Given the description of an element on the screen output the (x, y) to click on. 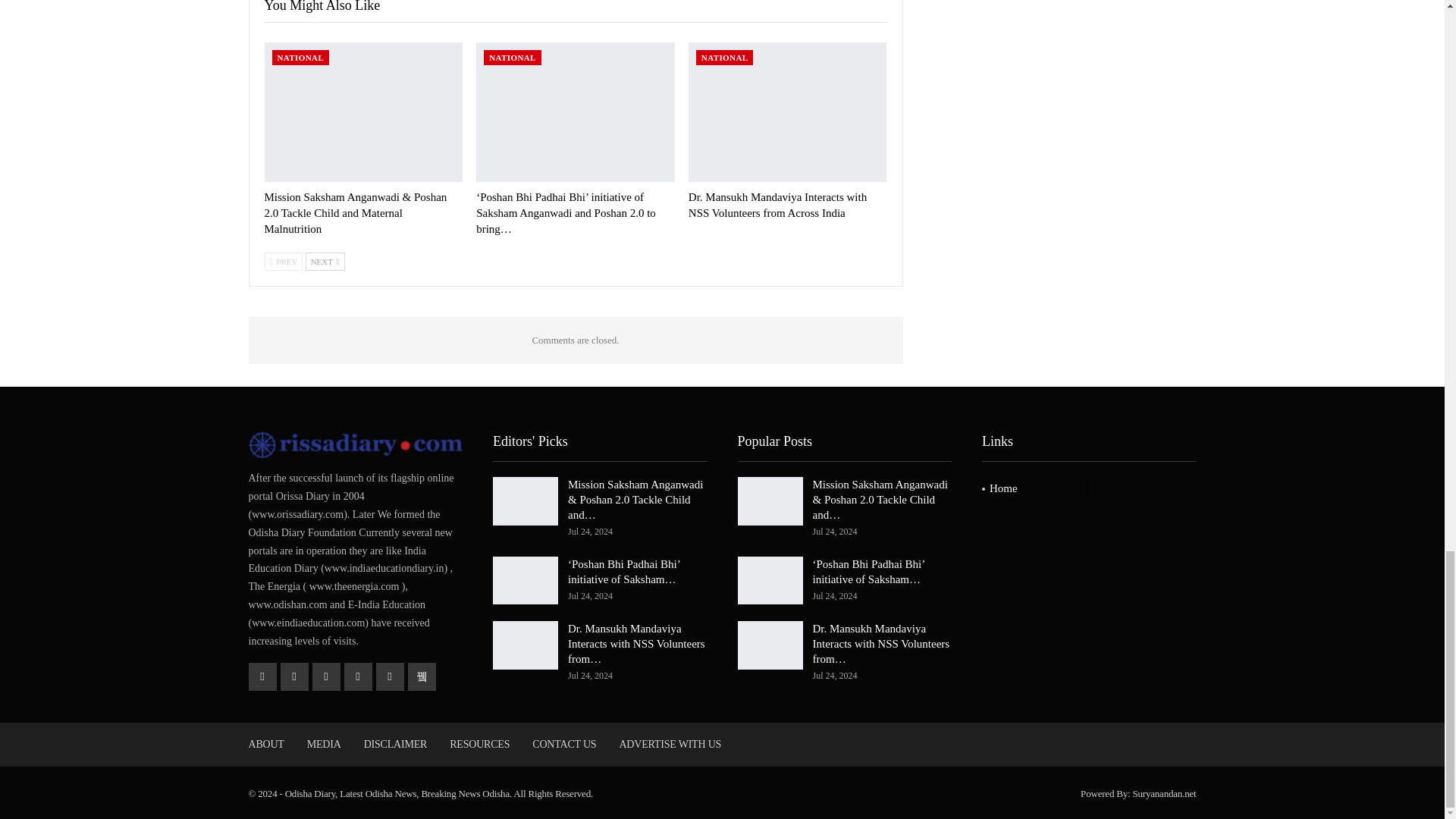
Previous (282, 261)
Next (325, 261)
